Given the description of an element on the screen output the (x, y) to click on. 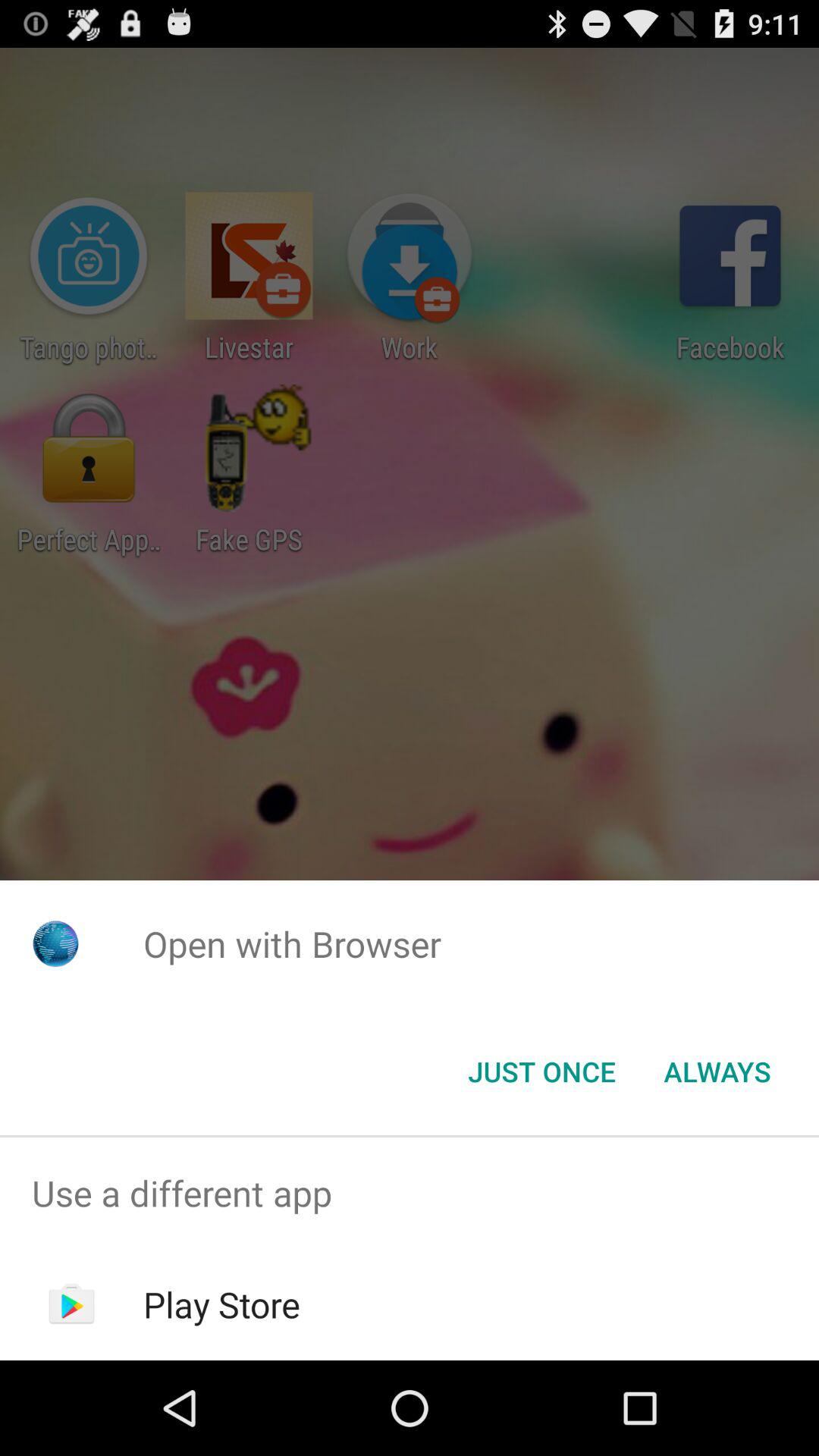
jump to play store item (221, 1304)
